Given the description of an element on the screen output the (x, y) to click on. 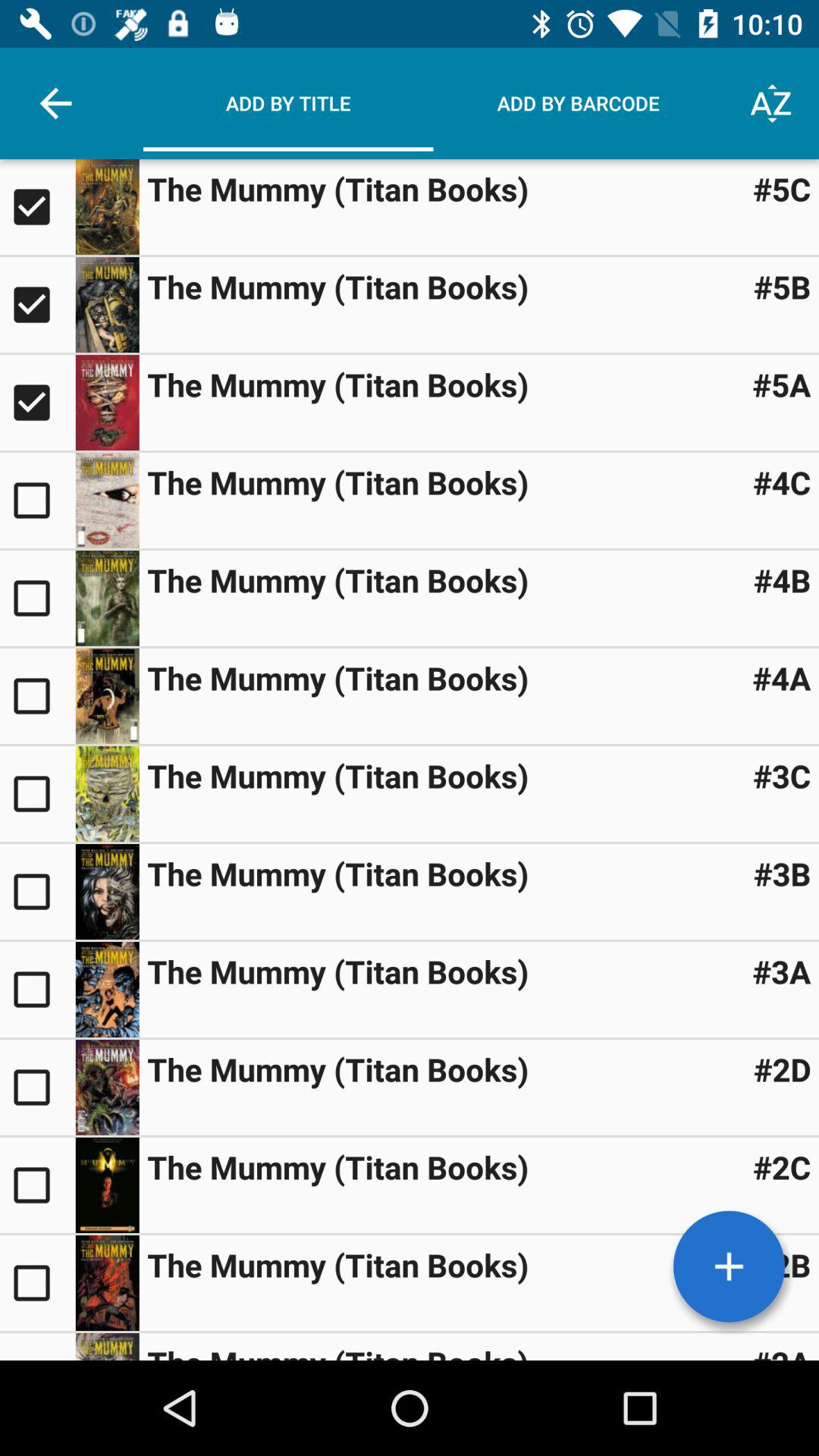
flip until #3b (782, 873)
